Given the description of an element on the screen output the (x, y) to click on. 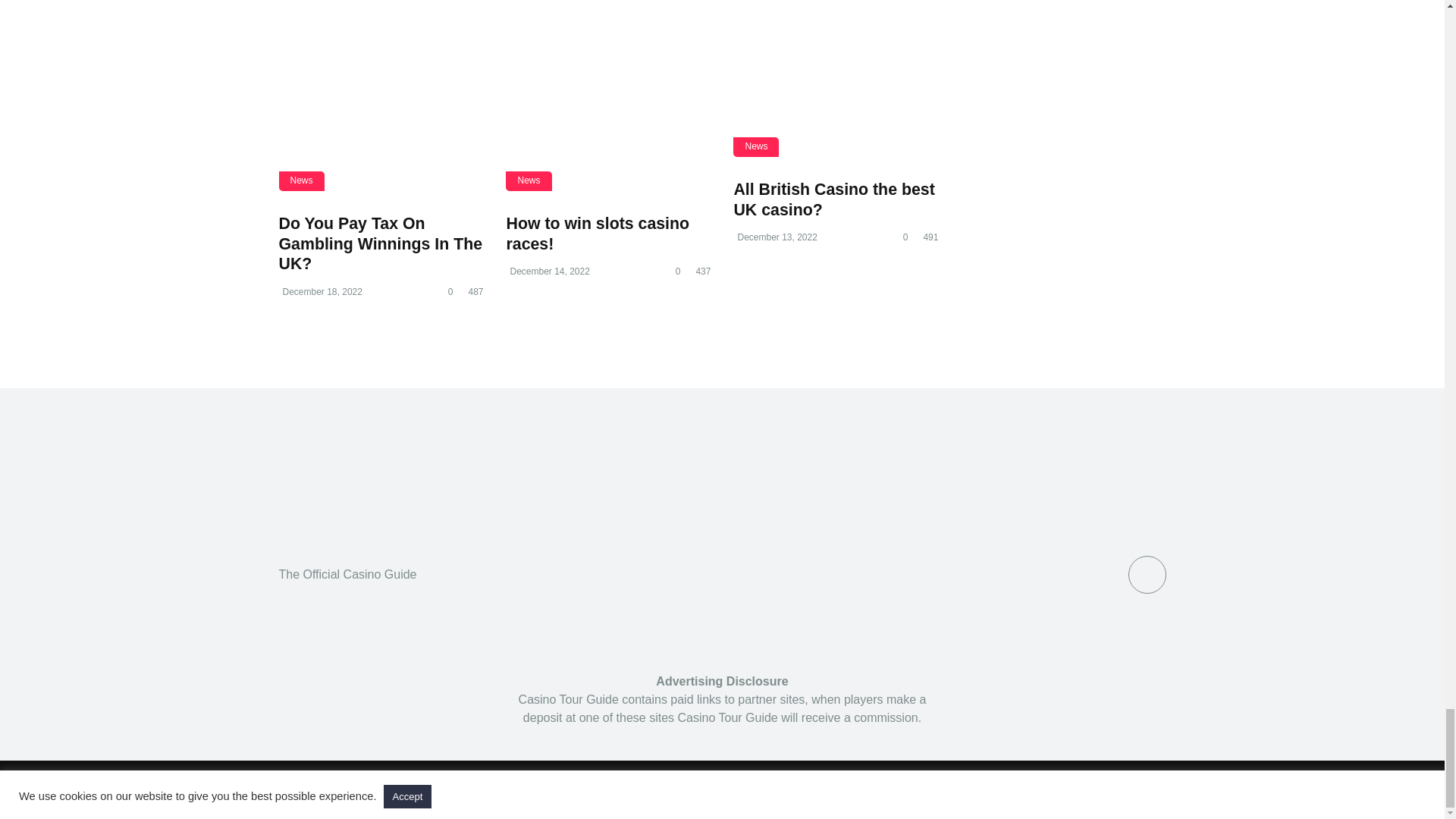
How to win slots casino races! (596, 233)
News (755, 146)
How to win slots casino races! (607, 85)
Facebook (1147, 573)
All British Casino the best UK casino? (835, 68)
Do You Pay Tax On Gambling Winnings In The UK? (381, 85)
Do You Pay Tax On Gambling Winnings In The UK? (381, 243)
News (528, 180)
All British Casino the best UK casino? (833, 199)
How to win slots casino races! (596, 233)
Do You Pay Tax On Gambling Winnings In The UK? (381, 243)
All British Casino the best UK casino? (833, 199)
News (301, 180)
